Given the description of an element on the screen output the (x, y) to click on. 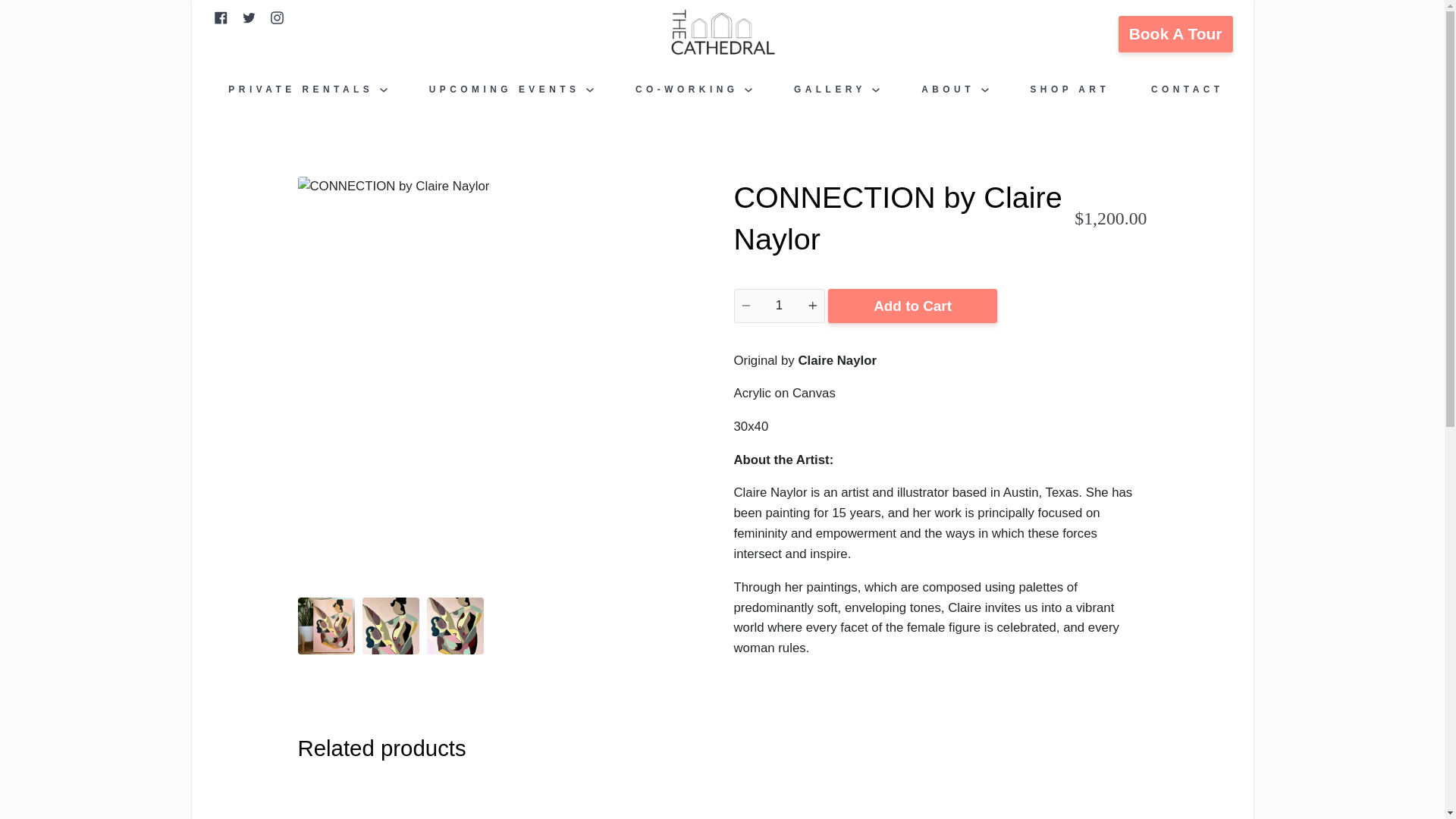
1 (779, 305)
thecathedral on Twitter (249, 16)
GALLERY (836, 89)
Instagram (275, 16)
UPCOMING EVENTS (511, 89)
CO-WORKING (693, 89)
Facebook (220, 16)
PRIVATE RENTALS (307, 89)
thecathedral on Facebook (220, 16)
Twitter (249, 16)
